Given the description of an element on the screen output the (x, y) to click on. 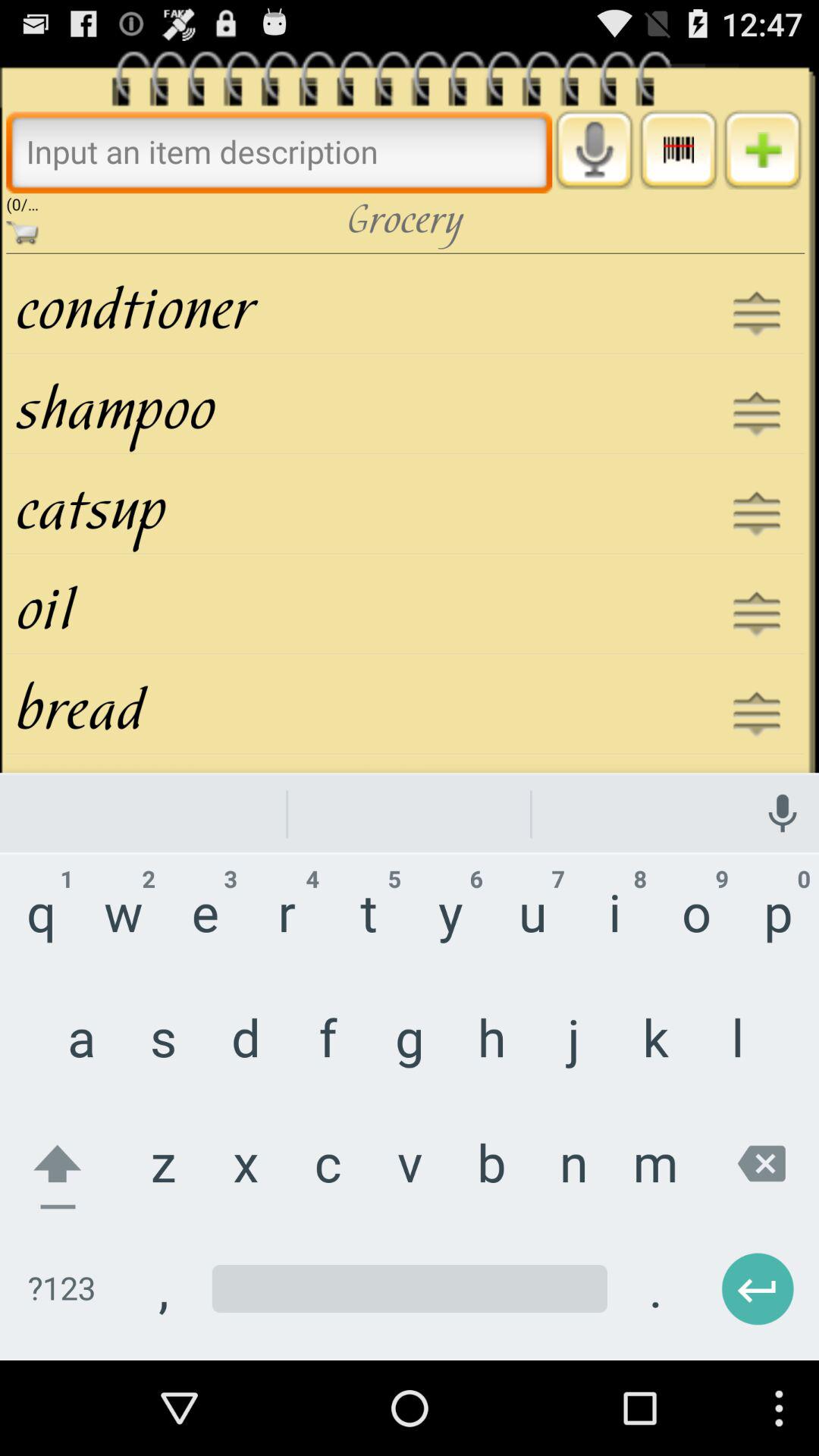
add item (762, 149)
